Given the description of an element on the screen output the (x, y) to click on. 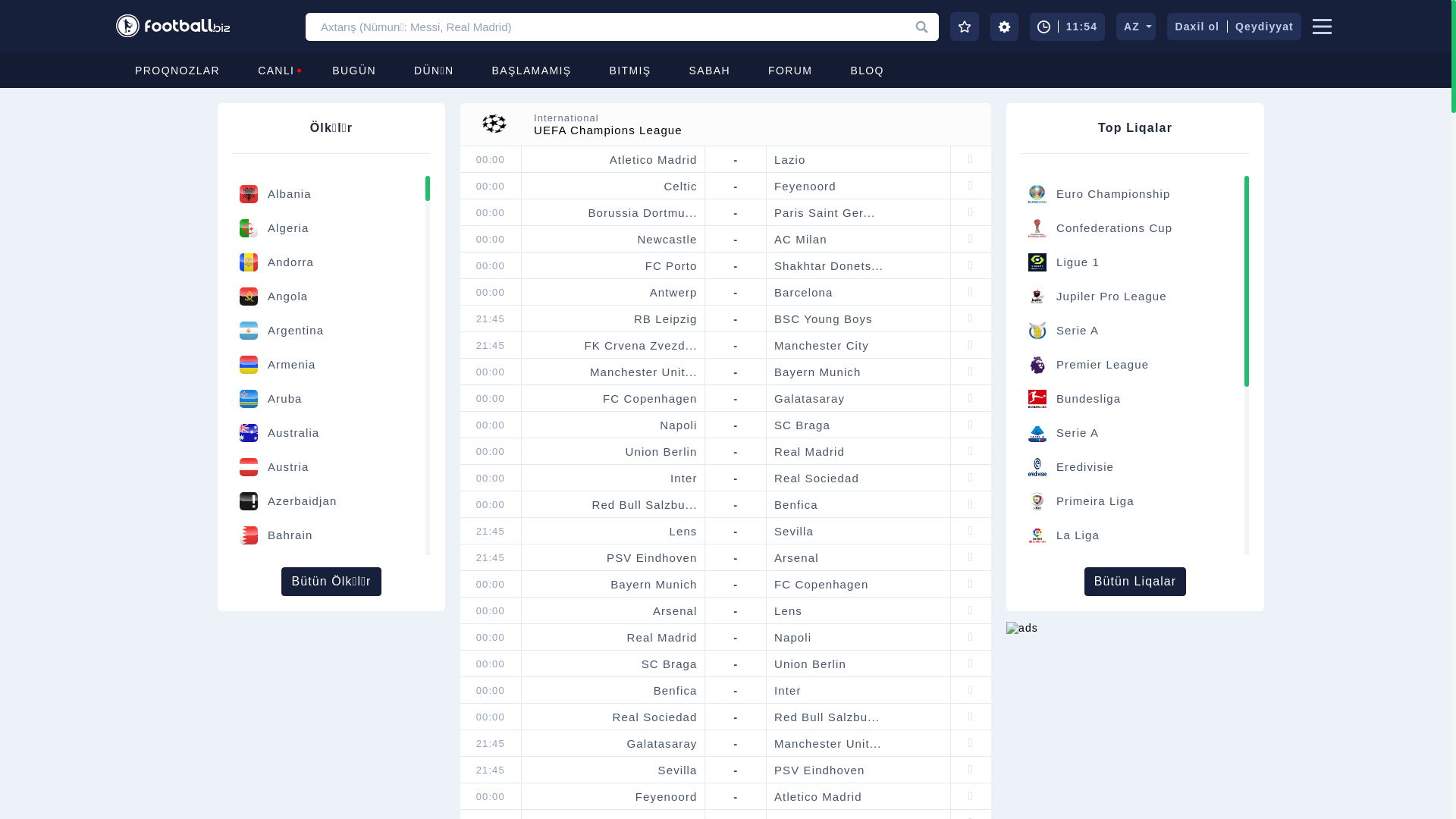
- Element type: text (735, 637)
- Element type: text (735, 557)
- Element type: text (735, 371)
Euro Championship Element type: text (1113, 193)
- Element type: text (735, 690)
World Cup Element type: text (1086, 637)
Premiership Element type: text (1091, 569)
Argentina Element type: text (328, 330)
Belgium Element type: text (328, 671)
BLOQ Element type: text (867, 70)
- Element type: text (735, 530)
Bundesliga Element type: text (1088, 398)
Bangladesh Element type: text (328, 569)
Austria Element type: text (328, 467)
Jupiler Pro League Element type: text (1111, 296)
Premier League Element type: text (1102, 364)
PROQNOZLAR Element type: text (177, 70)
- Element type: text (735, 238)
Benin Element type: text (328, 740)
- Element type: text (735, 185)
La Liga Element type: text (1077, 535)
Asian Games Element type: text (1094, 671)
Albania Element type: text (328, 194)
- Element type: text (735, 292)
UEFA Champions League Element type: text (1130, 773)
Confederations Cup Element type: text (1114, 227)
Ligue 1 Element type: text (1077, 262)
Bermuda Element type: text (328, 774)
Caribbean Cup Element type: text (1099, 705)
Serie A Element type: text (1077, 330)
Barbados Element type: text (328, 603)
Bahrain Element type: text (328, 535)
Primeira Liga Element type: text (1095, 500)
FORUM Element type: text (790, 70)
1st Division Element type: text (1090, 808)
Daxil ol Element type: text (1196, 26)
- Element type: text (735, 663)
- Element type: text (735, 451)
- Element type: text (735, 796)
Andorra Element type: text (328, 262)
- Element type: text (735, 159)
- Element type: text (735, 716)
Angola Element type: text (328, 296)
- Element type: text (735, 584)
- Element type: text (735, 769)
- Element type: text (735, 504)
Serie A Element type: text (1077, 432)
Azerbaidjan Element type: text (328, 501)
11:54 Element type: text (1066, 26)
football.biz Element type: hover (172, 36)
CANLI Element type: text (275, 70)
Ligue 2 Element type: text (1077, 739)
- Element type: text (735, 265)
Qeydiyyat Element type: text (1264, 26)
Ayarlar Element type: hover (1004, 26)
Algeria Element type: text (328, 228)
Eredivisie Element type: text (1084, 466)
- Element type: text (735, 212)
- Element type: text (735, 318)
Belize Element type: text (328, 705)
Belarus Element type: text (328, 637)
Aruba Element type: text (328, 398)
- Element type: text (735, 345)
- Element type: text (735, 610)
- Element type: text (735, 477)
Armenia Element type: text (328, 364)
- Element type: text (735, 743)
- Element type: text (735, 424)
- Element type: text (735, 398)
SABAH Element type: text (709, 70)
Championship Element type: text (1097, 603)
Australia Element type: text (328, 432)
